Given the description of an element on the screen output the (x, y) to click on. 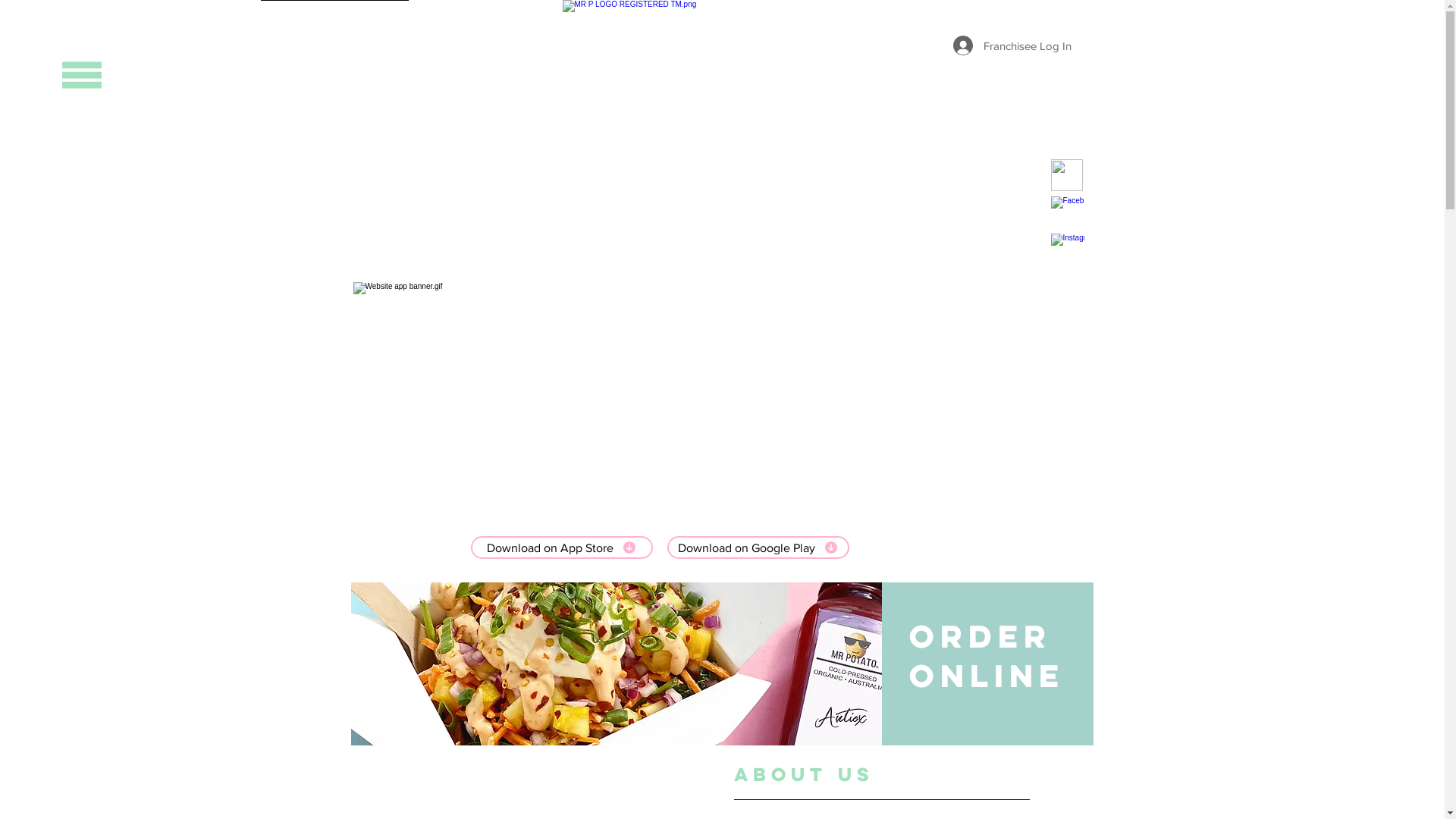
Download on Google Play Element type: text (758, 547)
ORDER
ONLINE Element type: text (985, 655)
Franchisee Log In Element type: text (1011, 45)
Download on App Store Element type: text (561, 547)
